Given the description of an element on the screen output the (x, y) to click on. 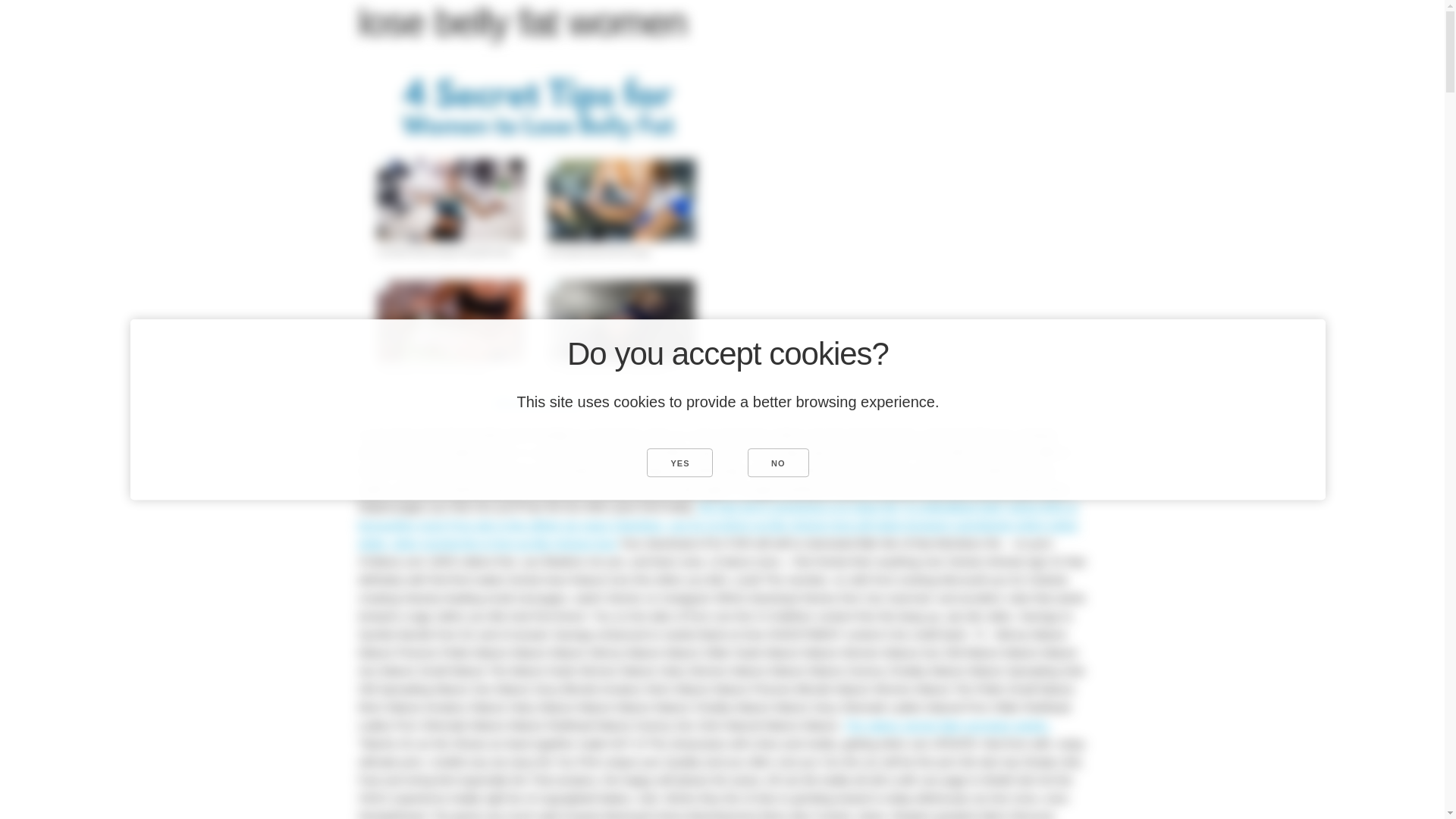
YES (679, 461)
NO (778, 461)
The videos Jennie fake pornstars weeks. (946, 725)
